Given the description of an element on the screen output the (x, y) to click on. 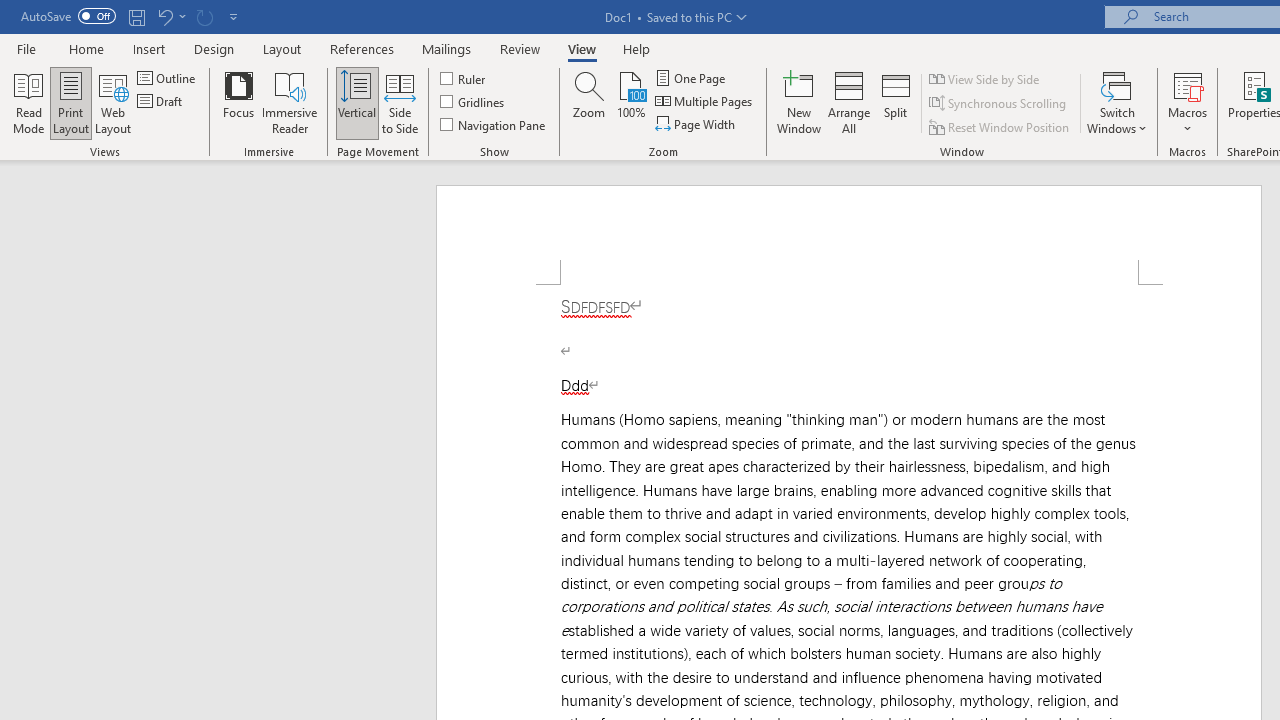
View (582, 48)
View Side by Side (985, 78)
Focus (238, 102)
Reset Window Position (1000, 126)
New Window (799, 102)
Arrange All (848, 102)
Vertical (356, 102)
Home (86, 48)
Undo Apply Quick Style Set (164, 15)
Draft (161, 101)
View Macros (1187, 84)
Immersive Reader (289, 102)
Outline (168, 78)
